Given the description of an element on the screen output the (x, y) to click on. 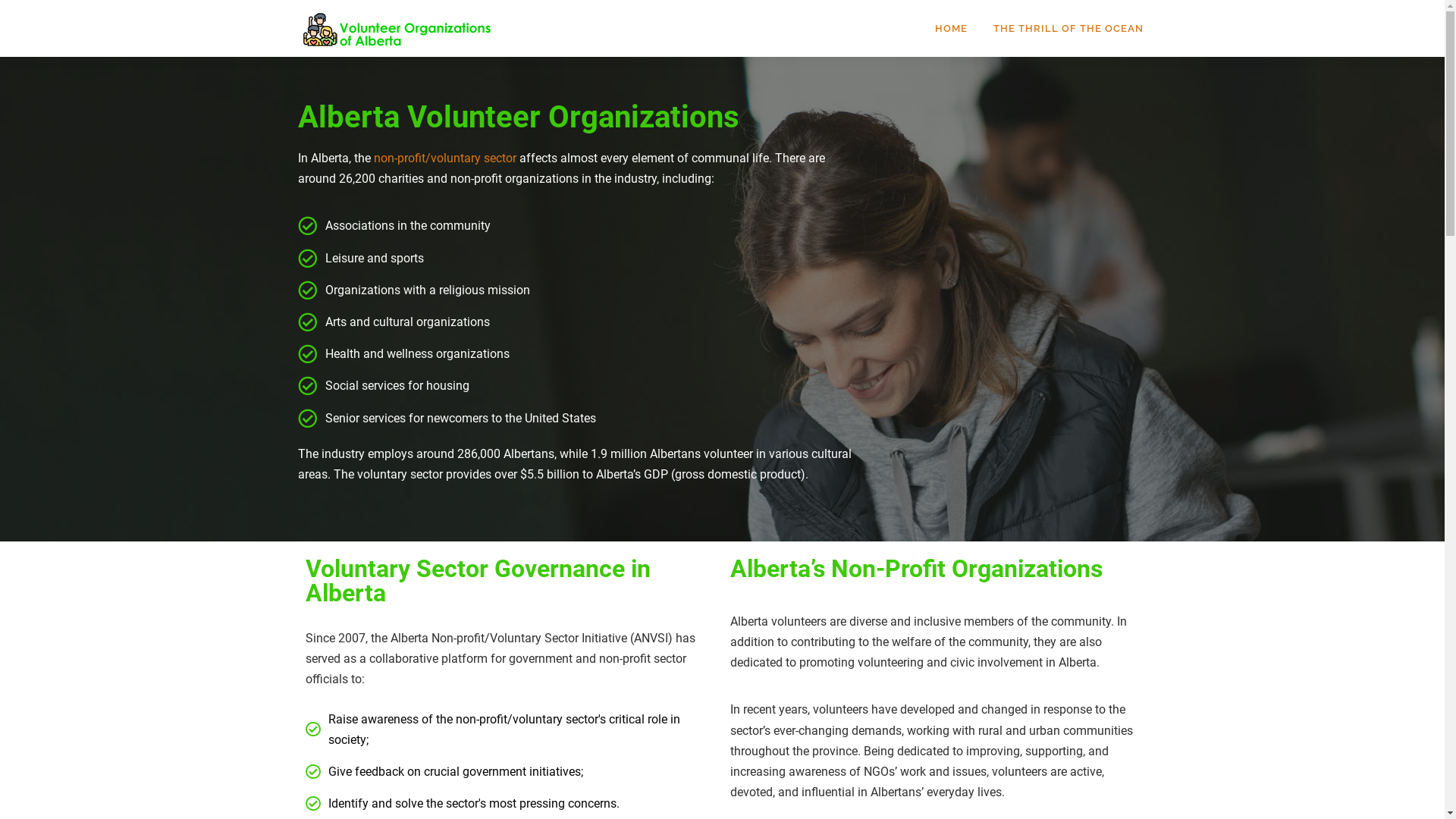
HOME Element type: text (951, 28)
THE THRILL OF THE OCEAN Element type: text (1060, 28)
non-profit/voluntary sector Element type: text (444, 157)
